Given the description of an element on the screen output the (x, y) to click on. 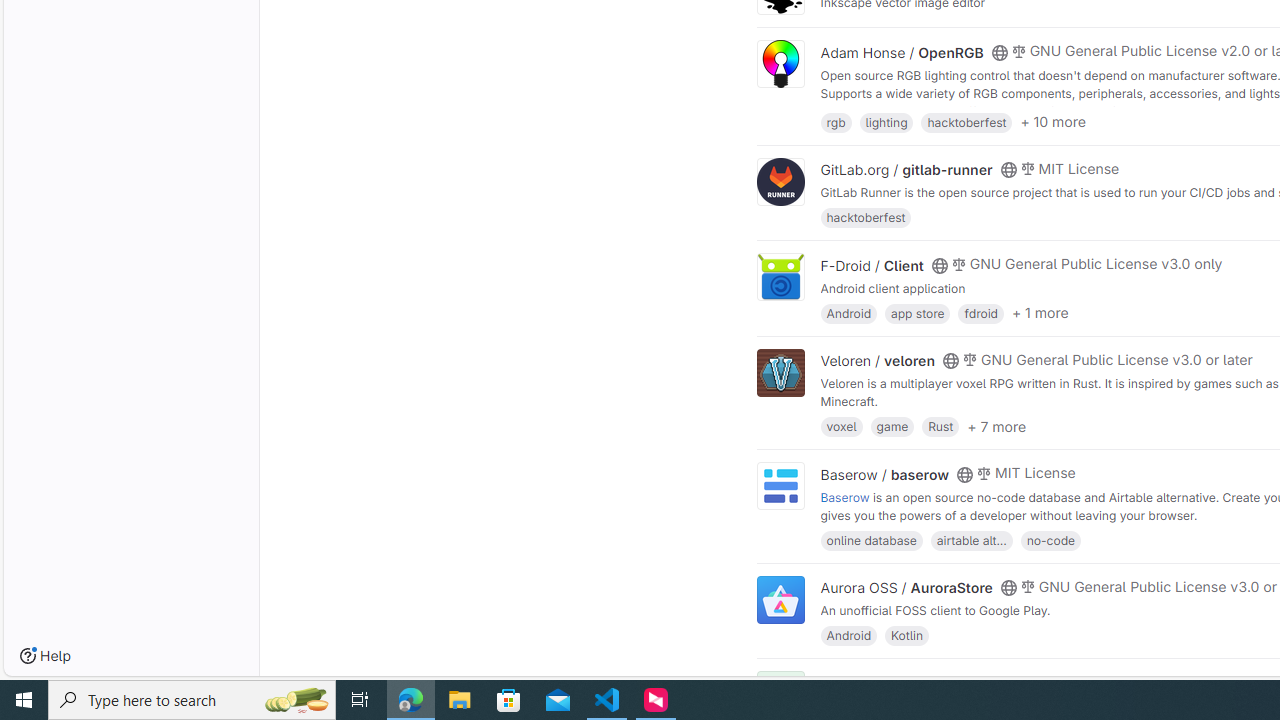
Rust (940, 426)
fdroid (980, 312)
Baserow (845, 496)
Class: s16 (999, 683)
no-code (1050, 539)
Baserow / baserow (884, 474)
rgb (836, 120)
+ 10 more (1053, 121)
app store (917, 312)
lighting (886, 120)
https://openrgb.org (989, 110)
+ 1 more (1039, 313)
Class: s14 gl-mr-2 (1018, 681)
Class: project (780, 599)
